Given the description of an element on the screen output the (x, y) to click on. 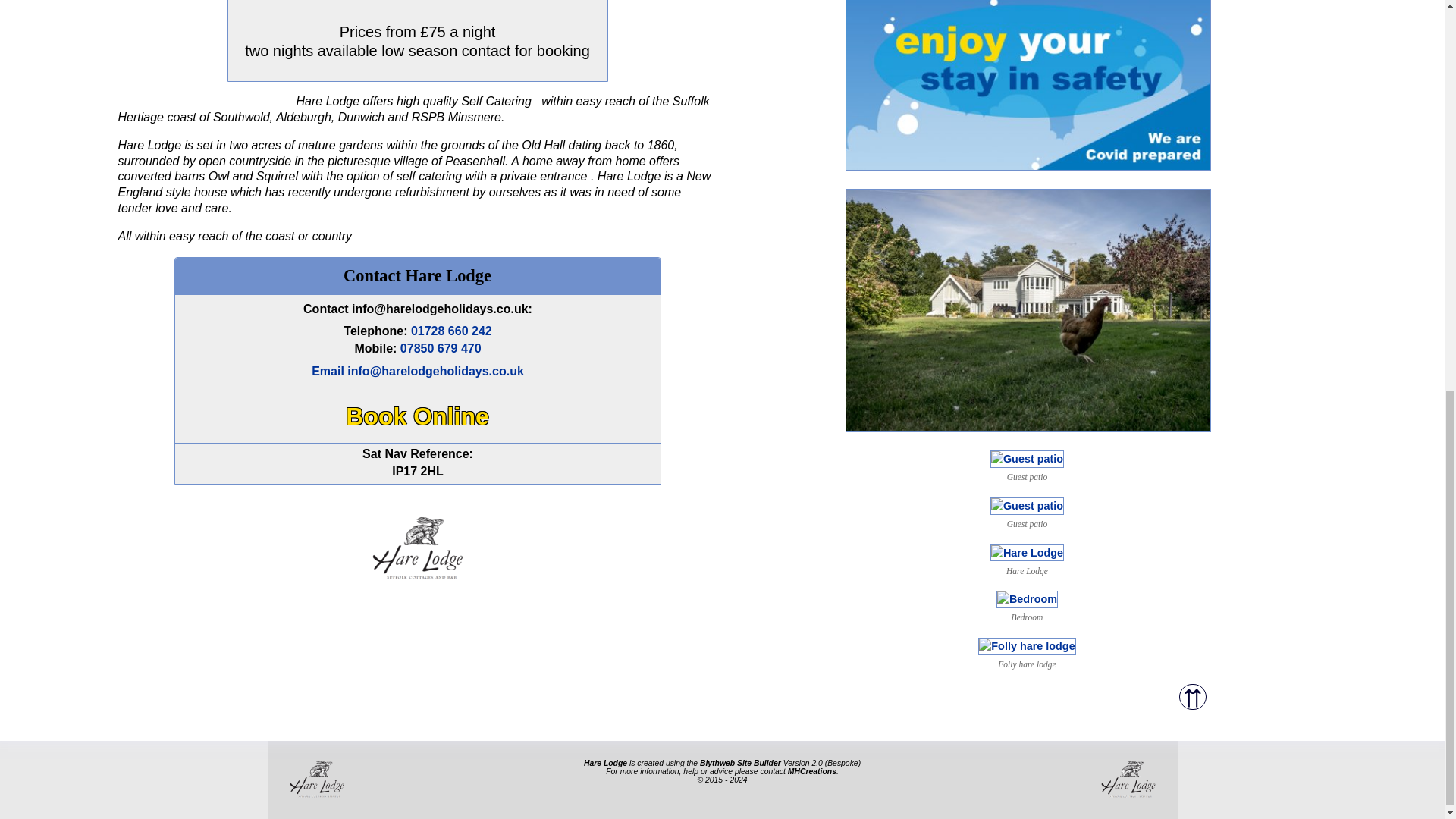
01728 660 242 (451, 330)
Guest patio (1026, 505)
Hare Lodge (1026, 552)
07850 679 470 (440, 348)
Bedroom (1026, 598)
MHCreations (811, 771)
Email the owners of Hare Lodge (417, 371)
Folly hare lodge (1027, 645)
Book Hare Lodge Bed and Breakfast on Free to Book (416, 414)
Book Online (416, 414)
